Given the description of an element on the screen output the (x, y) to click on. 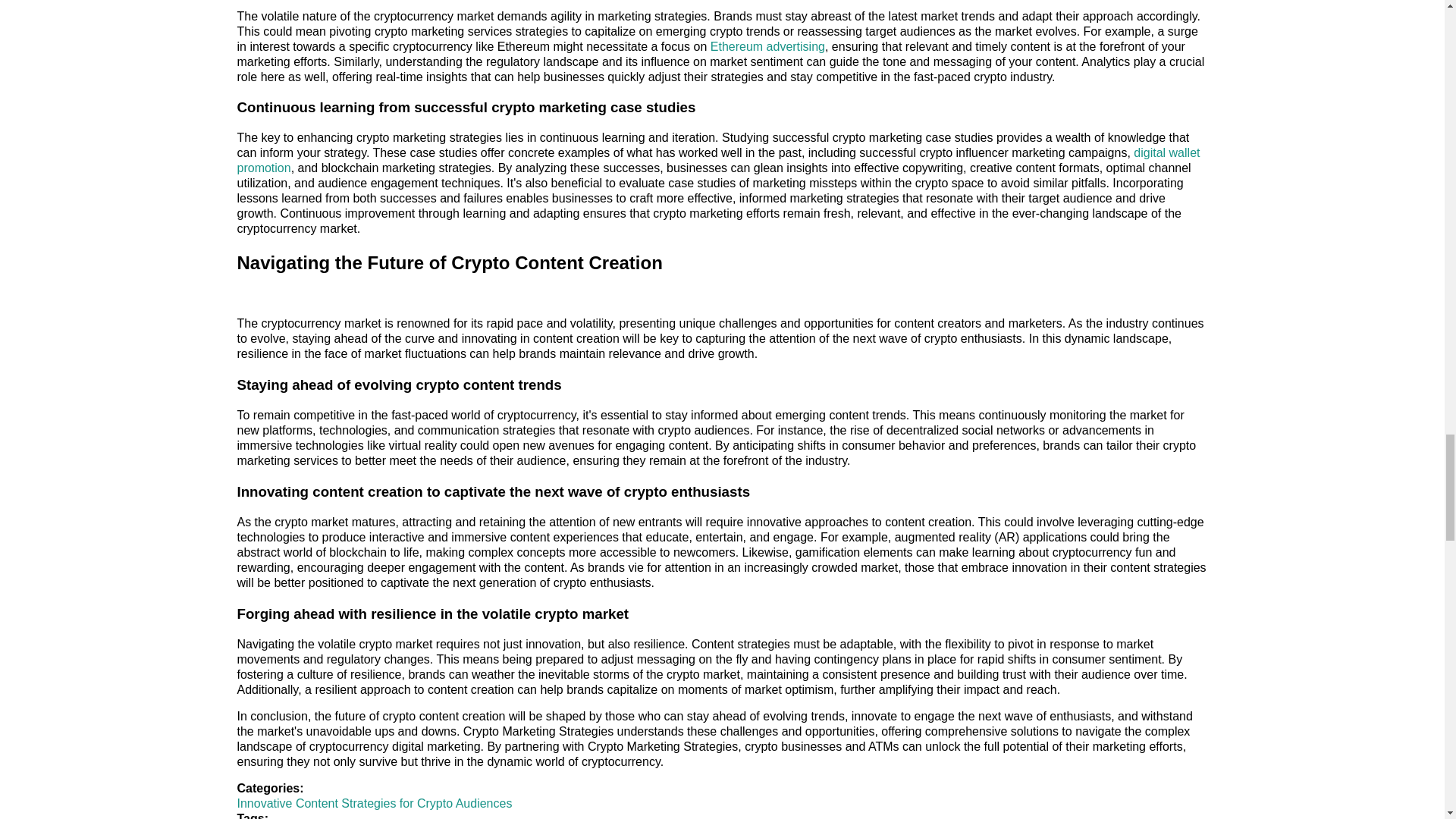
Ethereum advertising (767, 46)
Innovative Content Strategies for Crypto Audiences (373, 802)
digital wallet promotion (717, 160)
